Given the description of an element on the screen output the (x, y) to click on. 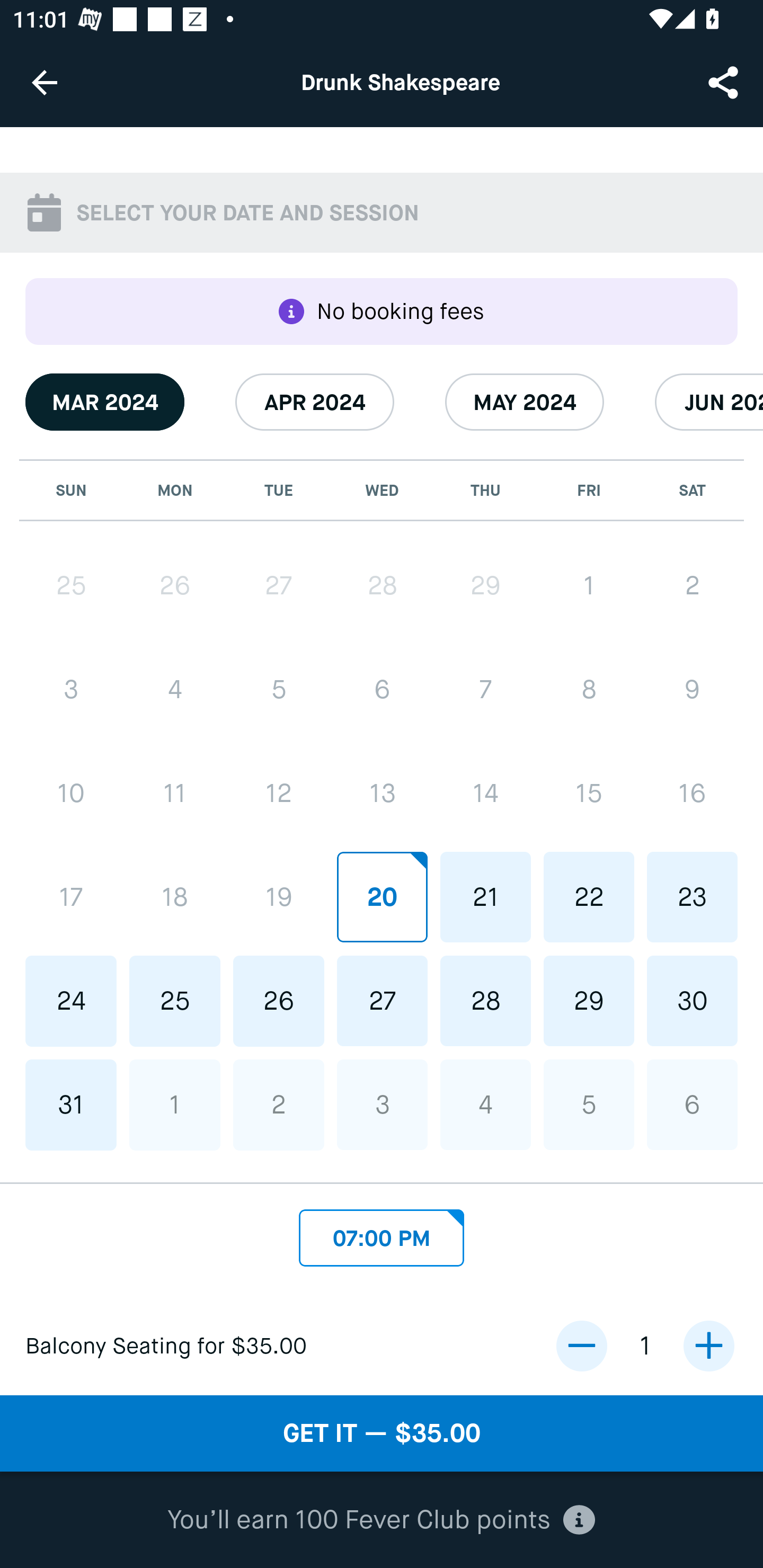
Navigate up (44, 82)
Share (724, 81)
MAR 2024 (104, 401)
APR 2024 (314, 401)
MAY 2024 (524, 401)
JUN 2024 (708, 401)
25 (70, 585)
26 (174, 585)
27 (278, 585)
28 (382, 585)
29 (485, 585)
1 (588, 585)
2 (692, 585)
3 (70, 689)
4 (174, 689)
5 (278, 689)
6 (382, 689)
7 (485, 689)
8 (588, 689)
9 (692, 689)
10 (70, 792)
11 (174, 792)
12 (278, 792)
13 (382, 792)
14 (485, 792)
15 (588, 792)
16 (692, 792)
17 (70, 896)
18 (174, 896)
19 (278, 896)
20 (382, 896)
21 (485, 896)
22 (588, 896)
23 (692, 896)
24 (70, 1000)
25 (174, 1000)
26 (278, 1000)
27 (382, 999)
28 (485, 999)
29 (588, 999)
30 (692, 999)
31 (70, 1104)
1 (174, 1104)
2 (278, 1104)
3 (382, 1104)
4 (485, 1104)
5 (588, 1104)
6 (692, 1104)
07:00 PM (381, 1232)
decrease (581, 1345)
increase (708, 1345)
GET IT — $35.00 (381, 1433)
You’ll earn 100 Fever Club points (381, 1519)
